Given the description of an element on the screen output the (x, y) to click on. 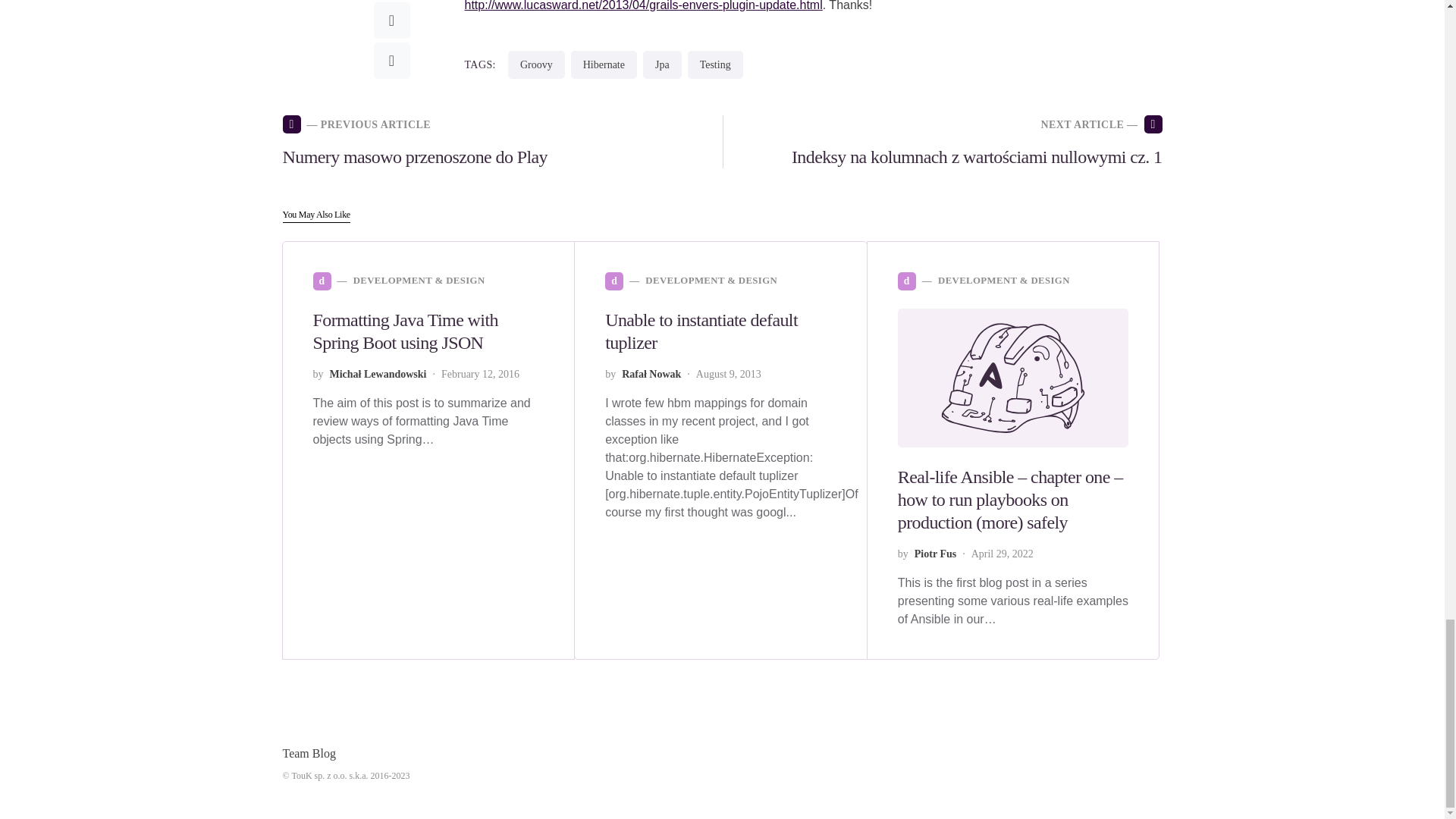
groovy (536, 64)
View all posts by Piotr Fus (935, 553)
hibernate (603, 64)
